Given the description of an element on the screen output the (x, y) to click on. 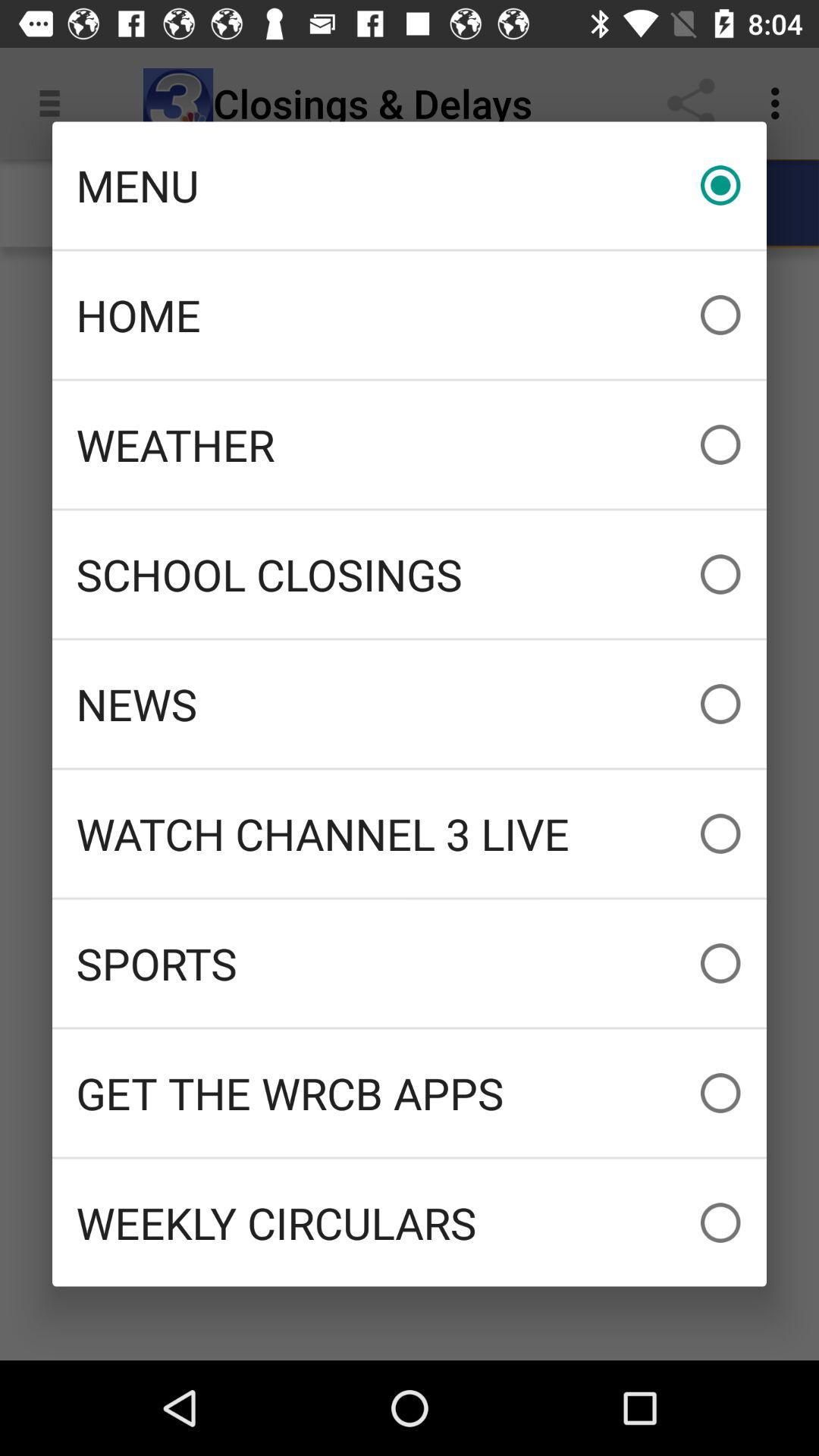
press the icon below get the wrcb (409, 1222)
